Given the description of an element on the screen output the (x, y) to click on. 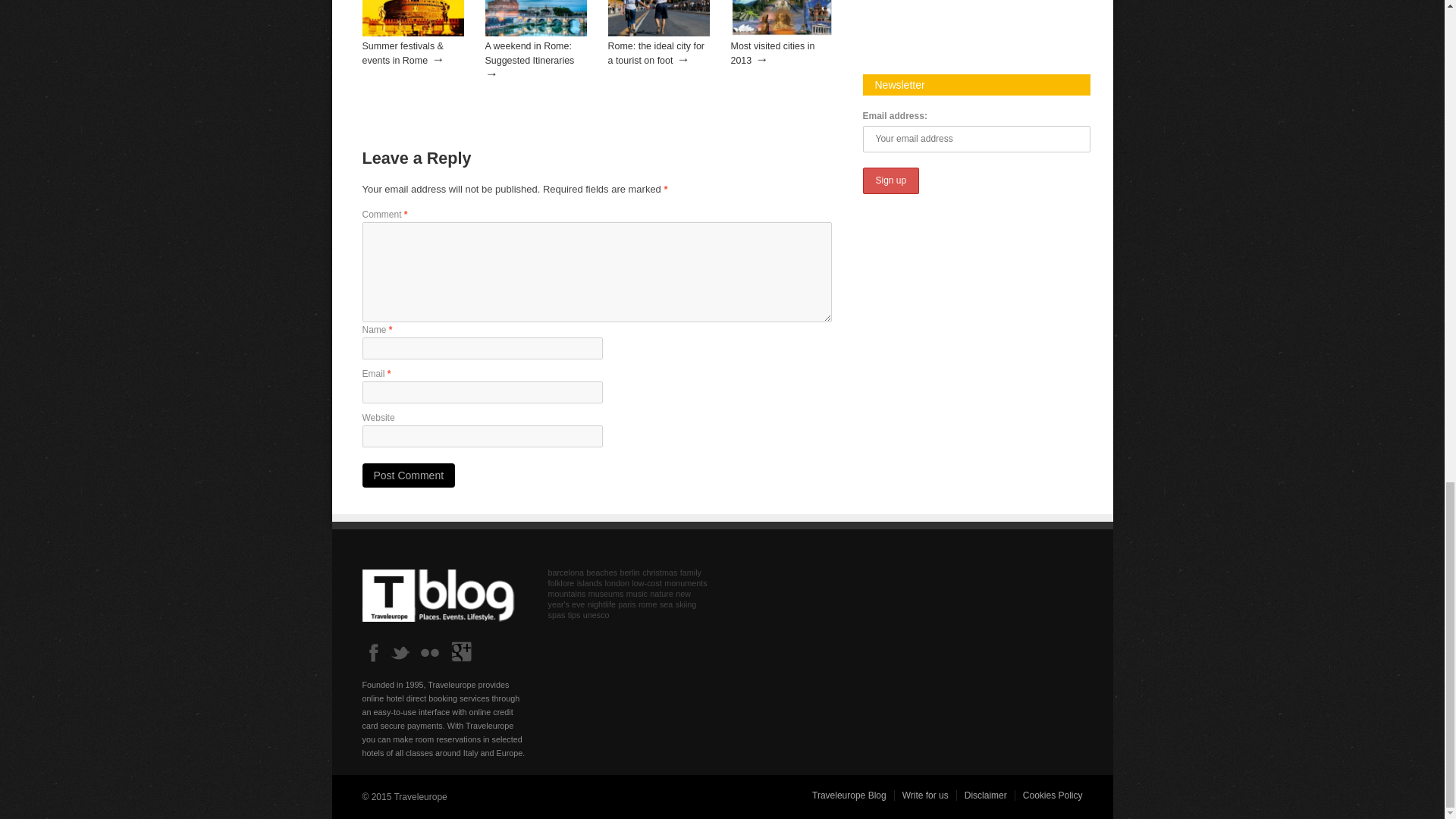
Post Comment (408, 475)
Most visited cities in 2013 (772, 53)
Most visited cities in 2013 (781, 32)
Post Comment (408, 475)
Sign up (891, 180)
A weekend in Rome: Suggested Itineraries (535, 32)
Rome: the ideal city for a tourist on foot (656, 53)
Most visited cities in 2013 (772, 53)
A weekend in Rome: Suggested Itineraries (529, 53)
A weekend in Rome: Suggested Itineraries (529, 53)
Rome: the ideal city for a tourist on foot (659, 32)
Rome: the ideal city for a tourist on foot (656, 53)
